Given the description of an element on the screen output the (x, y) to click on. 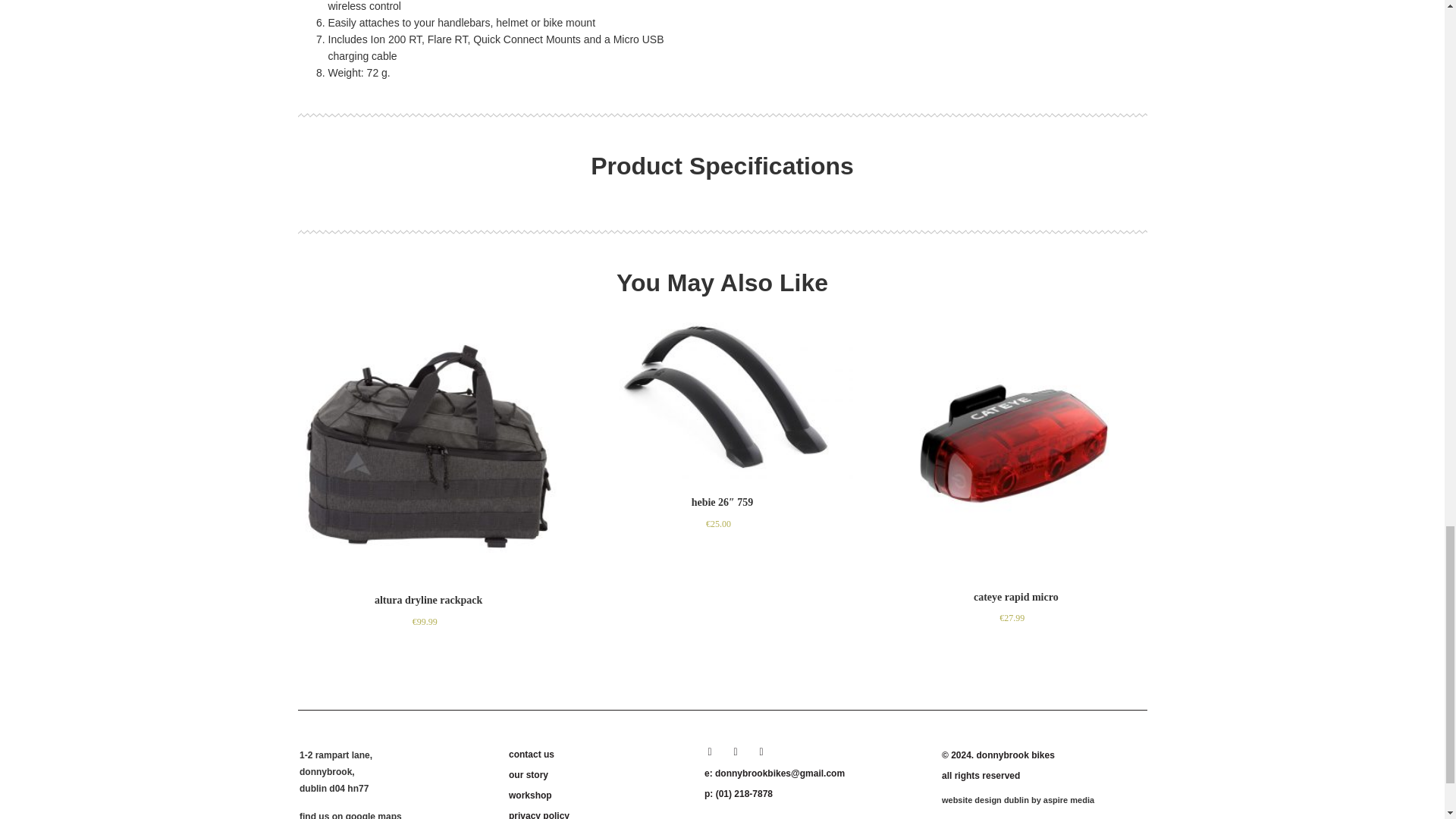
find us on google maps (350, 815)
our story (596, 774)
privacy policy (596, 813)
workshop (596, 795)
website design dublin (985, 799)
contact us (596, 754)
aspire media (1068, 799)
